Given the description of an element on the screen output the (x, y) to click on. 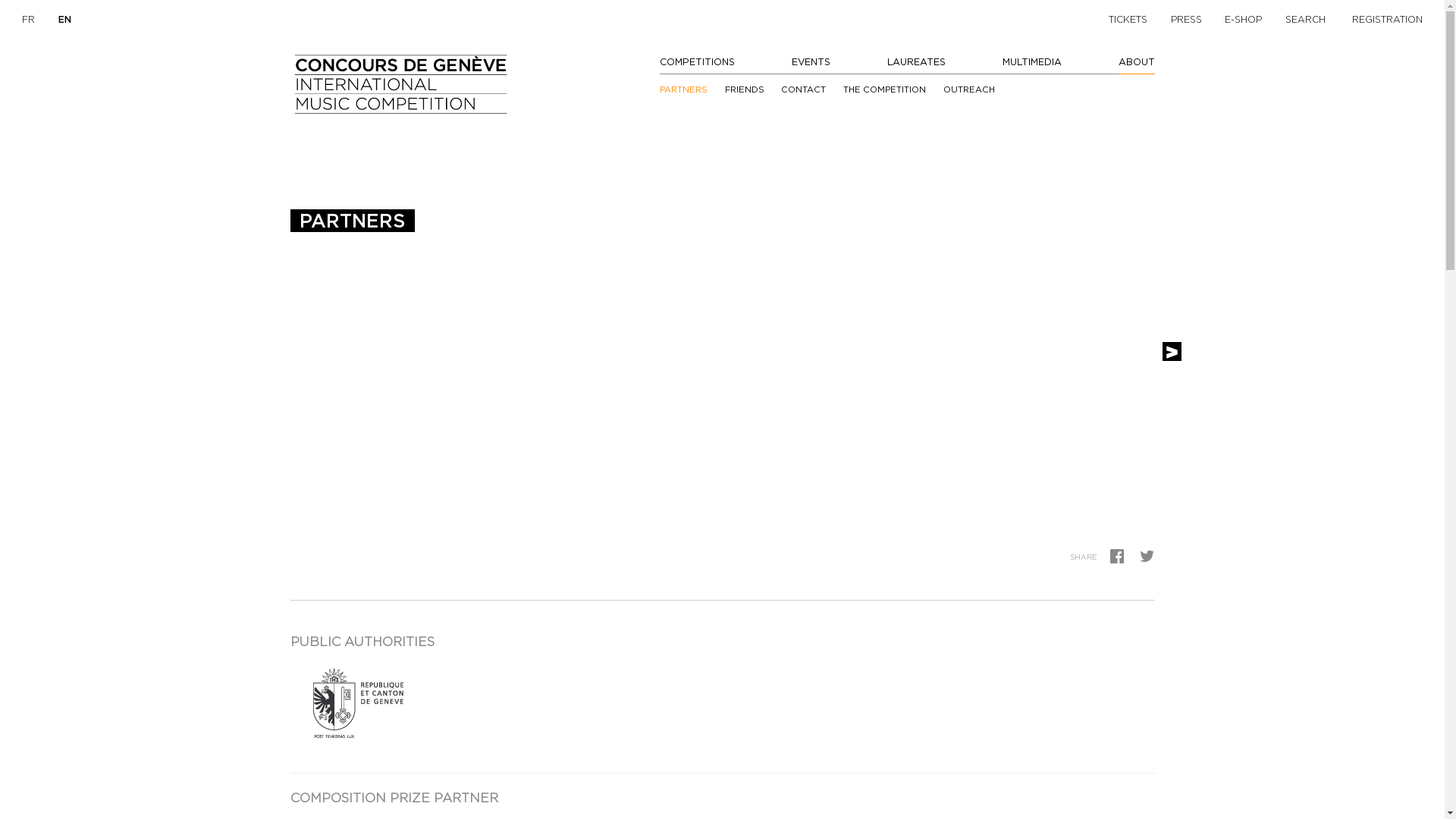
ABOUT Element type: text (1135, 62)
SEARCH Element type: text (1305, 19)
E-SHOP Element type: text (1242, 19)
REGISTRATION Element type: text (1387, 19)
PARTNERS Element type: text (683, 91)
OUTREACH Element type: text (968, 89)
THE COMPETITION Element type: text (884, 89)
PRESS Element type: text (1185, 19)
FR Element type: text (27, 19)
CONTACT Element type: text (803, 89)
COMPETITIONS Element type: text (696, 62)
EN Element type: text (64, 19)
TICKETS Element type: text (1127, 19)
EVENTS Element type: text (810, 62)
FRIENDS Element type: text (744, 89)
MULTIMEDIA Element type: text (1031, 62)
LAUREATES Element type: text (916, 62)
